Given the description of an element on the screen output the (x, y) to click on. 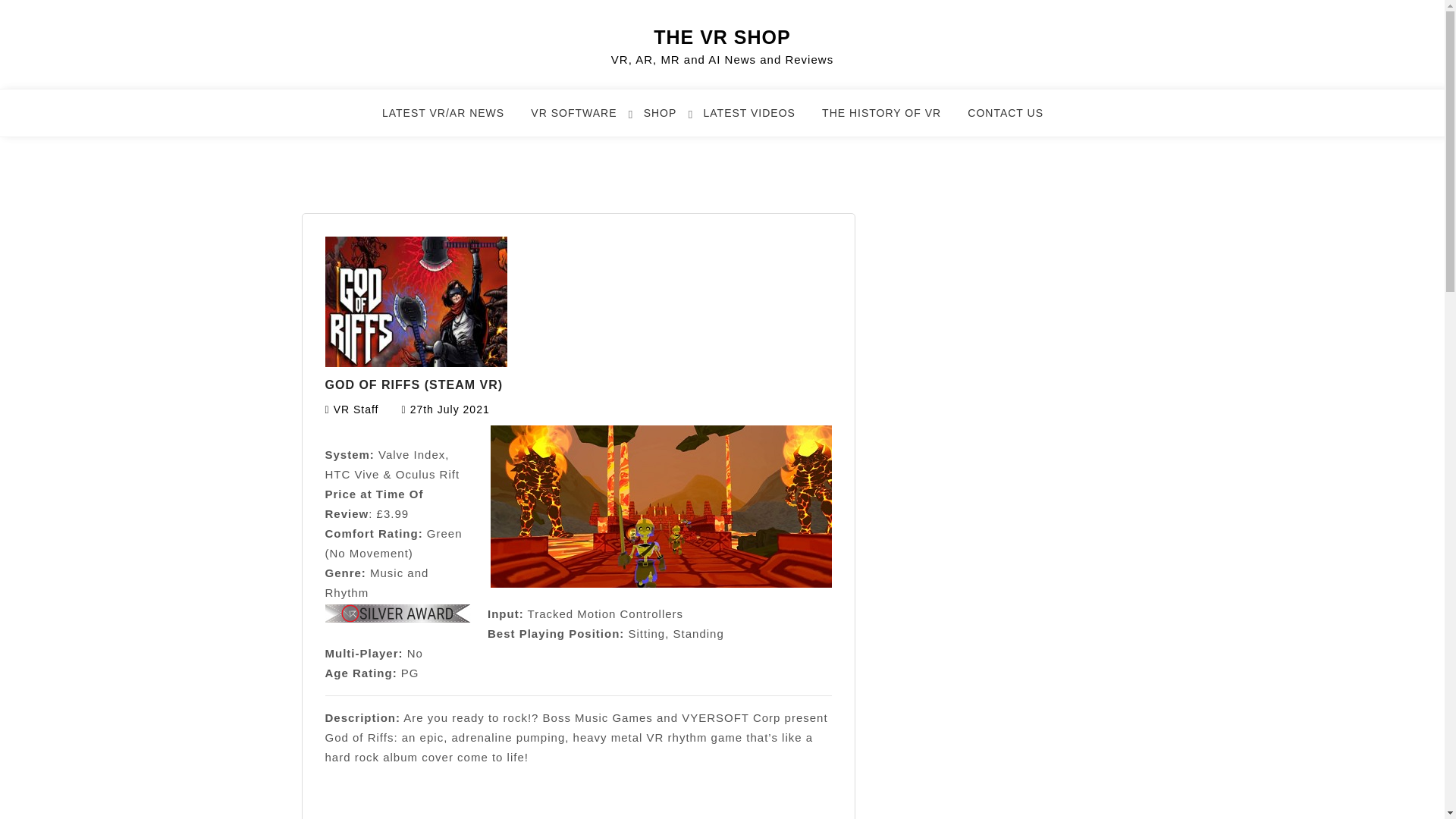
SHOP (669, 119)
CONTACT US (1015, 119)
Advertisement (577, 814)
27th July 2021 (449, 409)
VR SOFTWARE (582, 119)
THE VR SHOP (721, 36)
THE HISTORY OF VR (890, 119)
LATEST VIDEOS (758, 119)
VR Staff (355, 409)
